Given the description of an element on the screen output the (x, y) to click on. 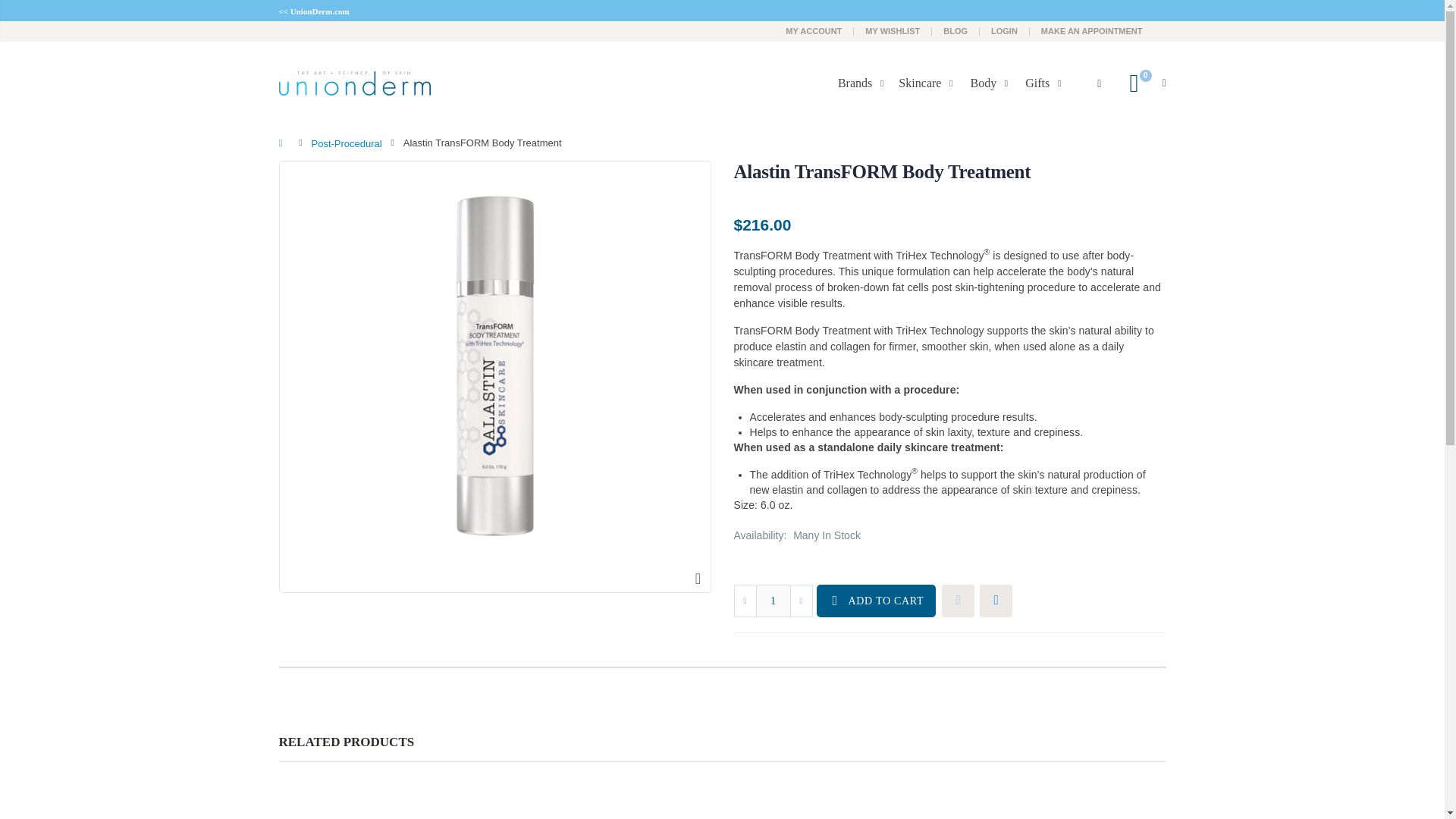
MY ACCOUNT (813, 30)
LOGIN (1004, 30)
MY WISHLIST (892, 30)
Add to wishlist (958, 600)
Add to compare (995, 600)
MAKE AN APPOINTMENT (1091, 30)
Back to the frontpage (284, 143)
Brands (864, 83)
1 (772, 600)
BLOG (955, 30)
Skincare (928, 83)
